Given the description of an element on the screen output the (x, y) to click on. 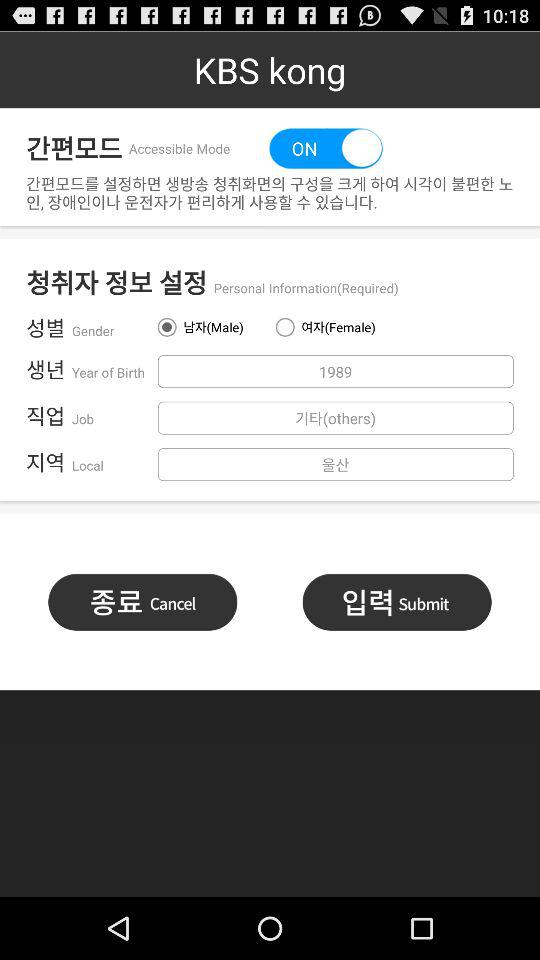
select the item next to gender app (209, 327)
